Given the description of an element on the screen output the (x, y) to click on. 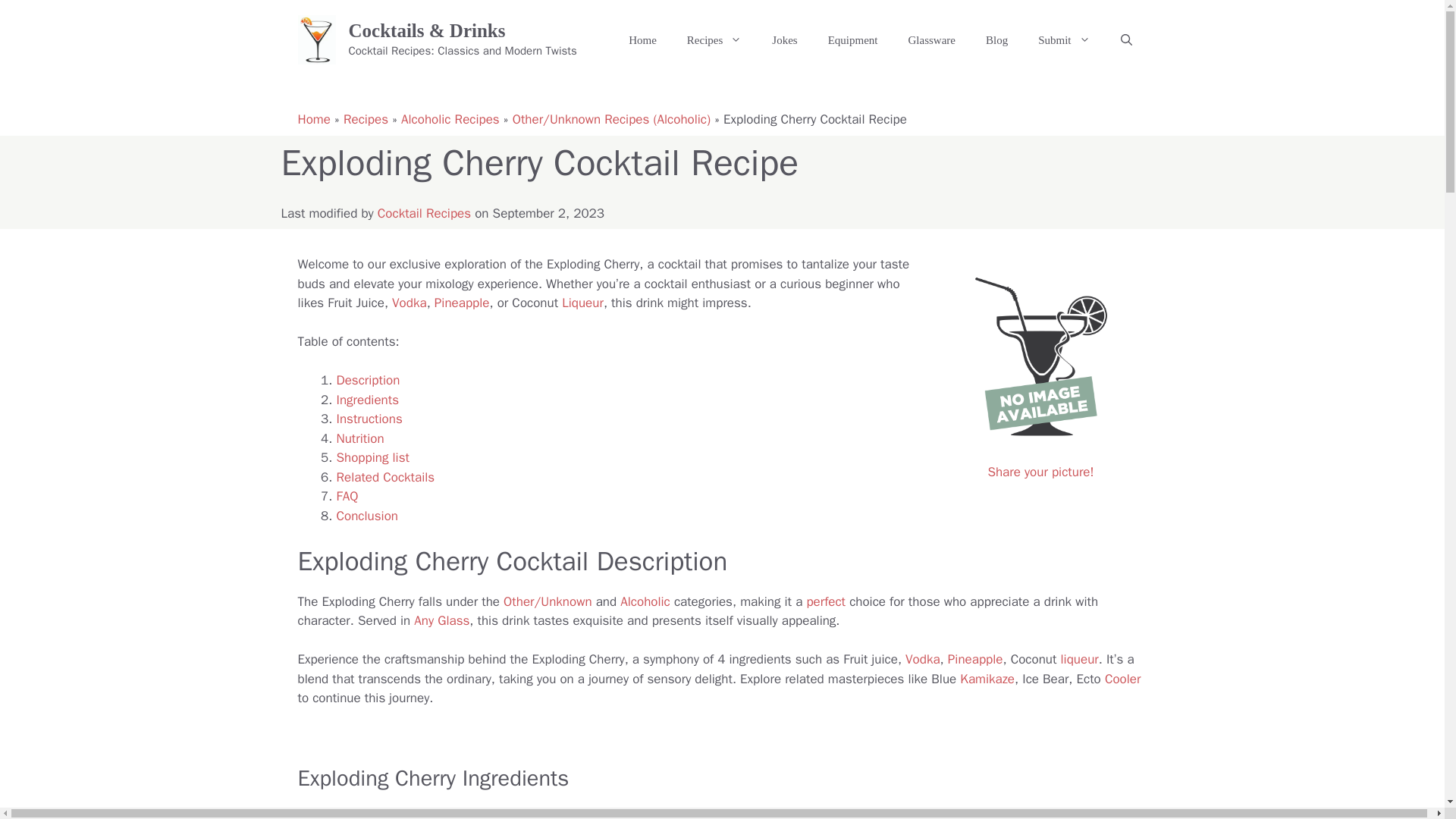
Blog (997, 40)
Equipment (852, 40)
Jokes (784, 40)
Glassware (930, 40)
Recipes (714, 40)
Home (641, 40)
